Given the description of an element on the screen output the (x, y) to click on. 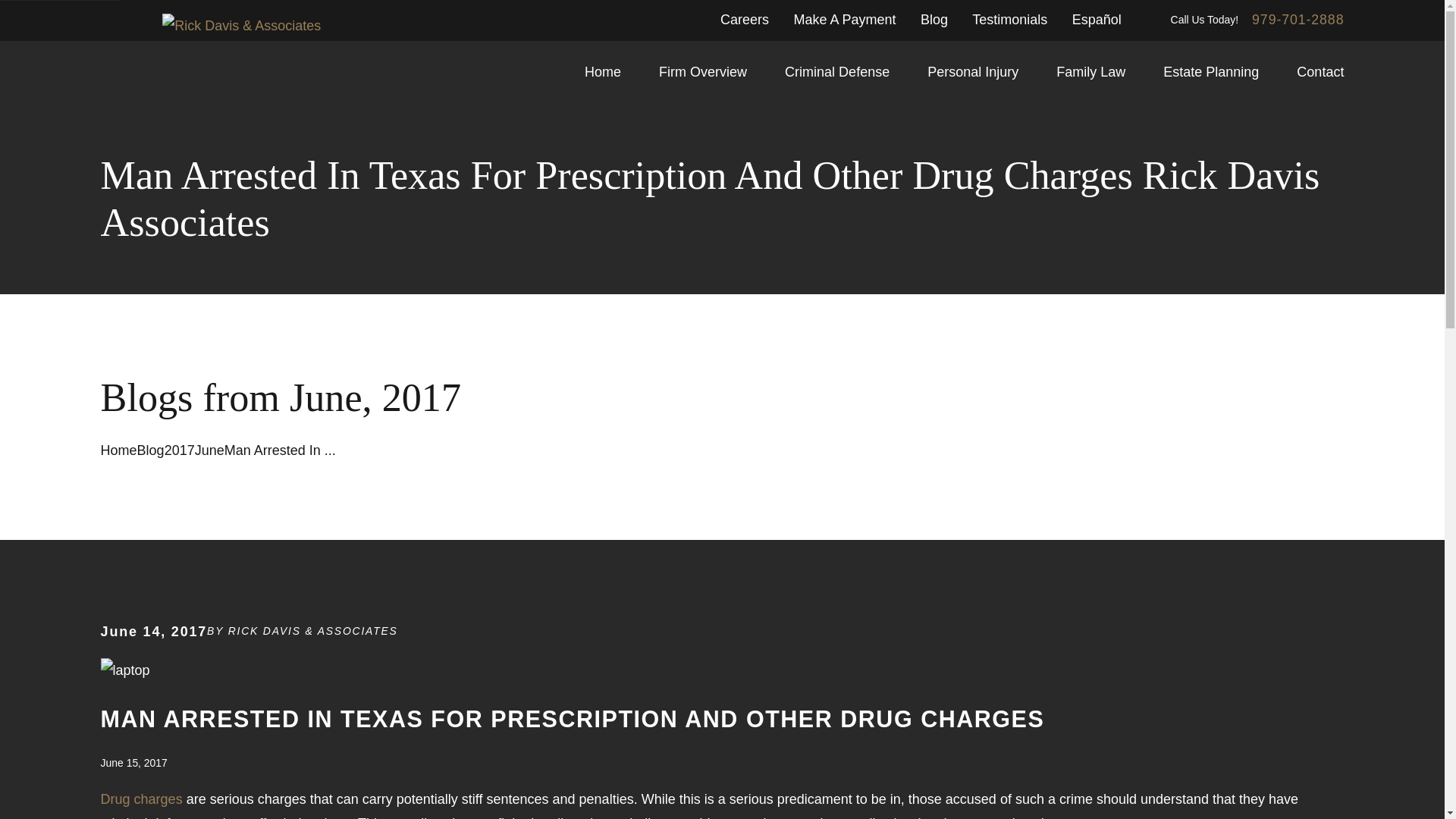
Firm Overview (702, 72)
Home (603, 72)
Make A Payment (844, 19)
Criminal Defense (836, 72)
Home (240, 25)
Careers (744, 19)
Blog (933, 19)
979-701-2888 (1297, 20)
Go Home (118, 450)
Personal Injury (972, 72)
